Given the description of an element on the screen output the (x, y) to click on. 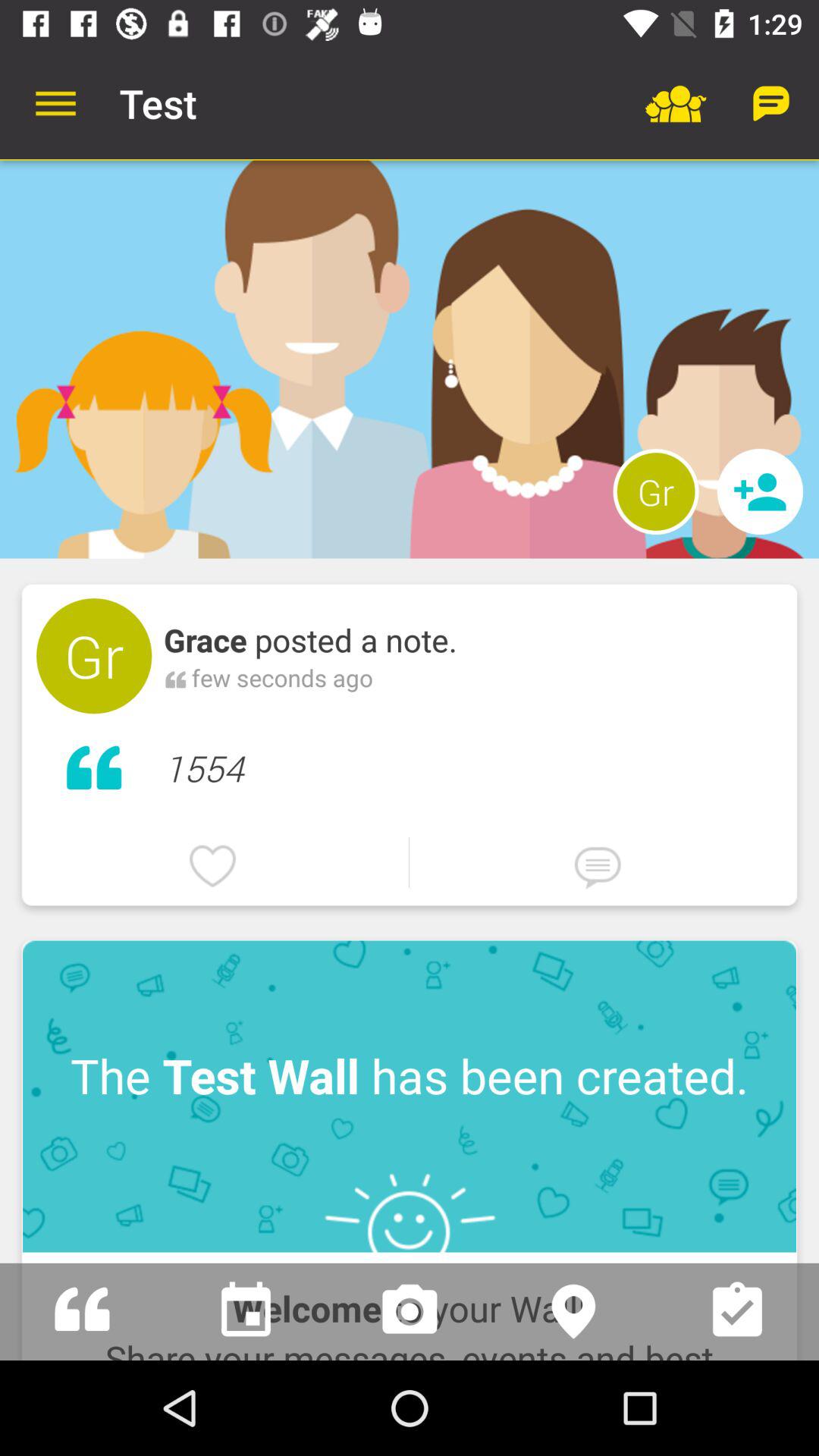
press item to the left of few seconds ago icon (175, 677)
